Given the description of an element on the screen output the (x, y) to click on. 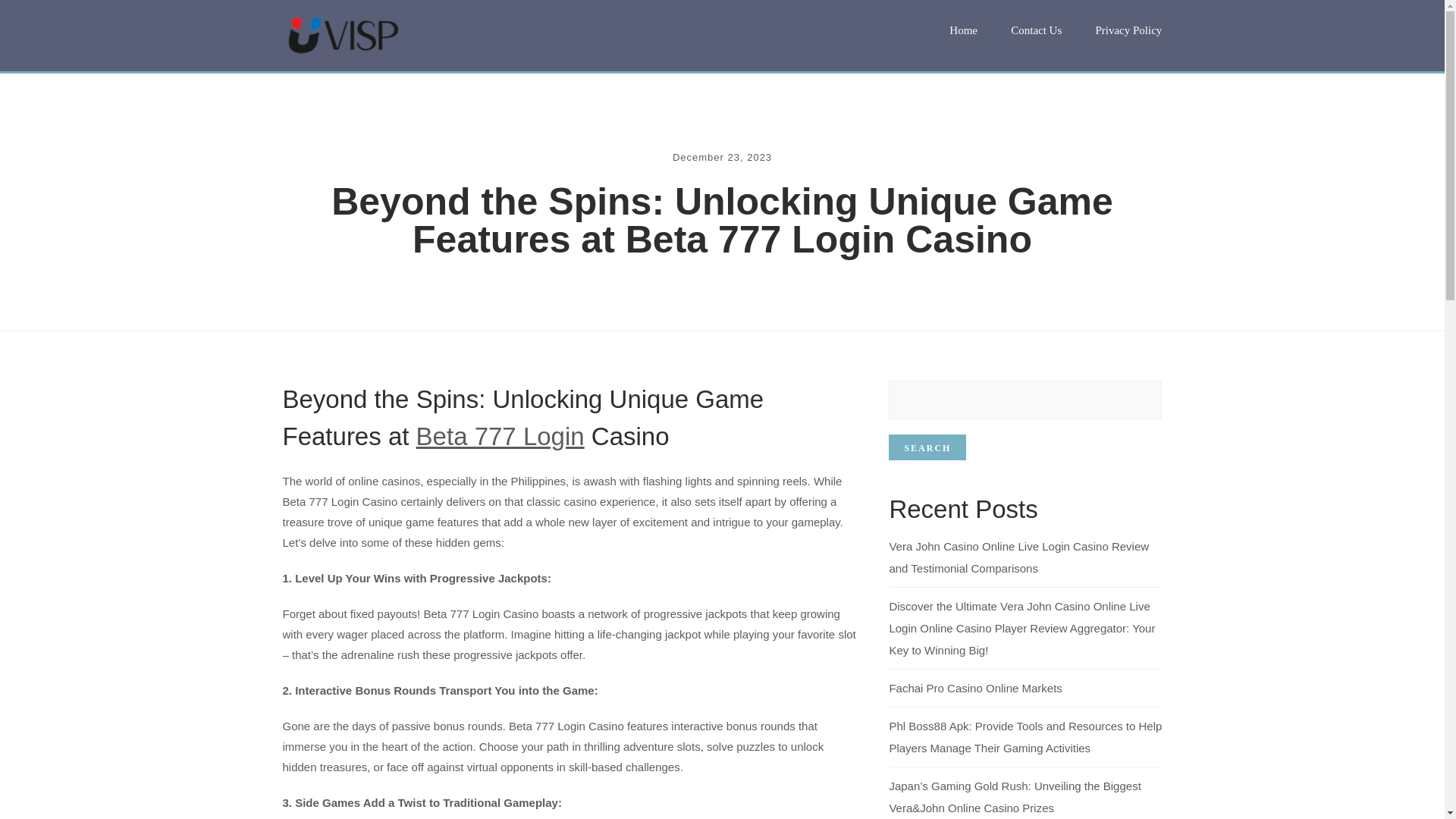
Fachai Pro Casino Online Markets (974, 687)
Beta 777 Login (500, 436)
SEARCH (927, 447)
Privacy Policy (1127, 30)
Contact Us (1035, 30)
Home (962, 30)
